Given the description of an element on the screen output the (x, y) to click on. 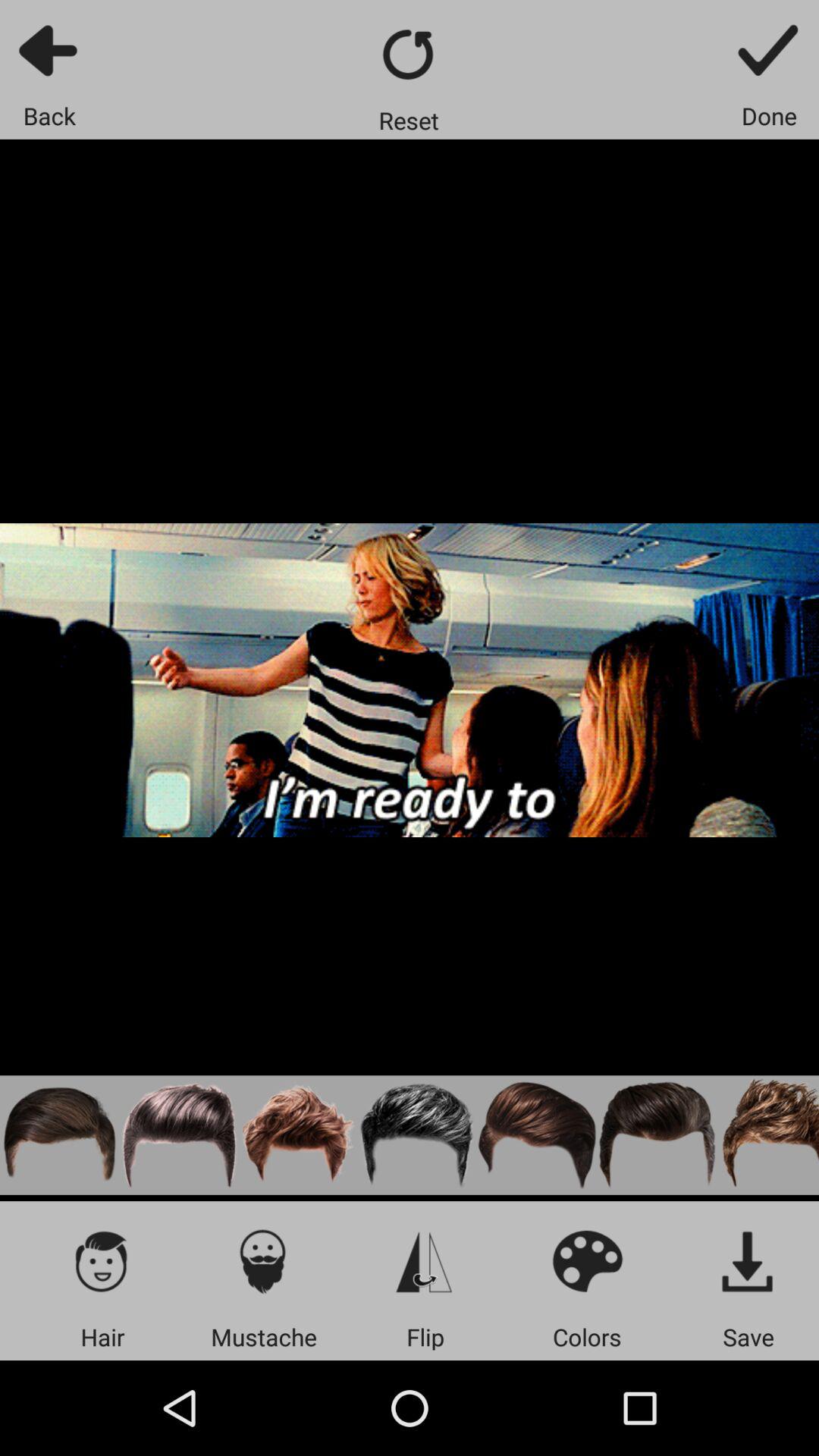
change color (586, 1260)
